Given the description of an element on the screen output the (x, y) to click on. 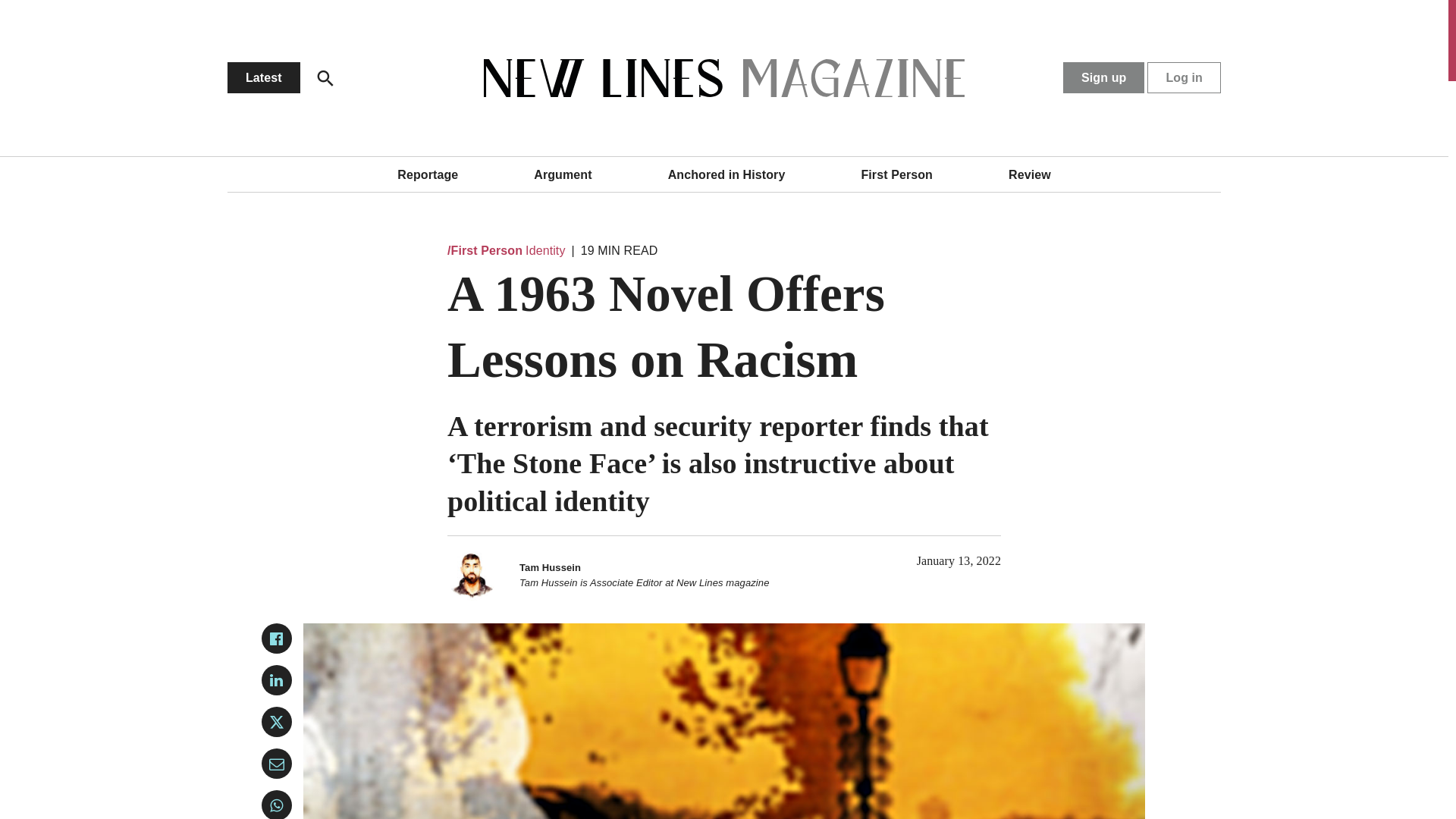
Tweet It (277, 721)
Identity (544, 250)
Anchored in History (727, 174)
First Person (896, 174)
First Person (484, 250)
Log in (1184, 77)
Latest (263, 77)
Share at LinkedIn (277, 680)
Review (1030, 174)
Share at Facebook (277, 638)
